Given the description of an element on the screen output the (x, y) to click on. 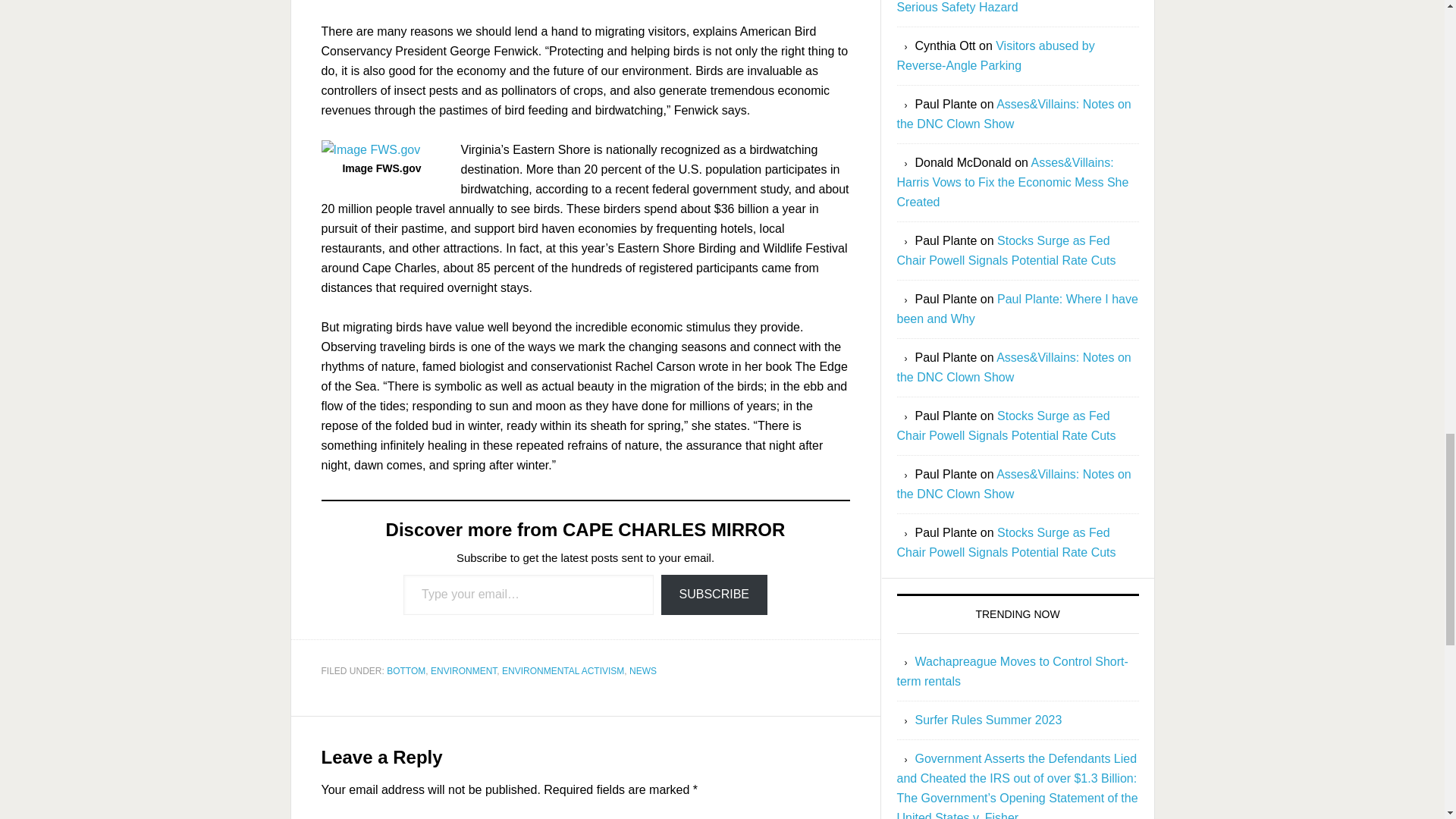
BOTTOM (406, 670)
Please fill in this field. (528, 594)
SUBSCRIBE (714, 594)
ENVIRONMENT (463, 670)
NEWS (642, 670)
ENVIRONMENTAL ACTIVISM (563, 670)
